Given the description of an element on the screen output the (x, y) to click on. 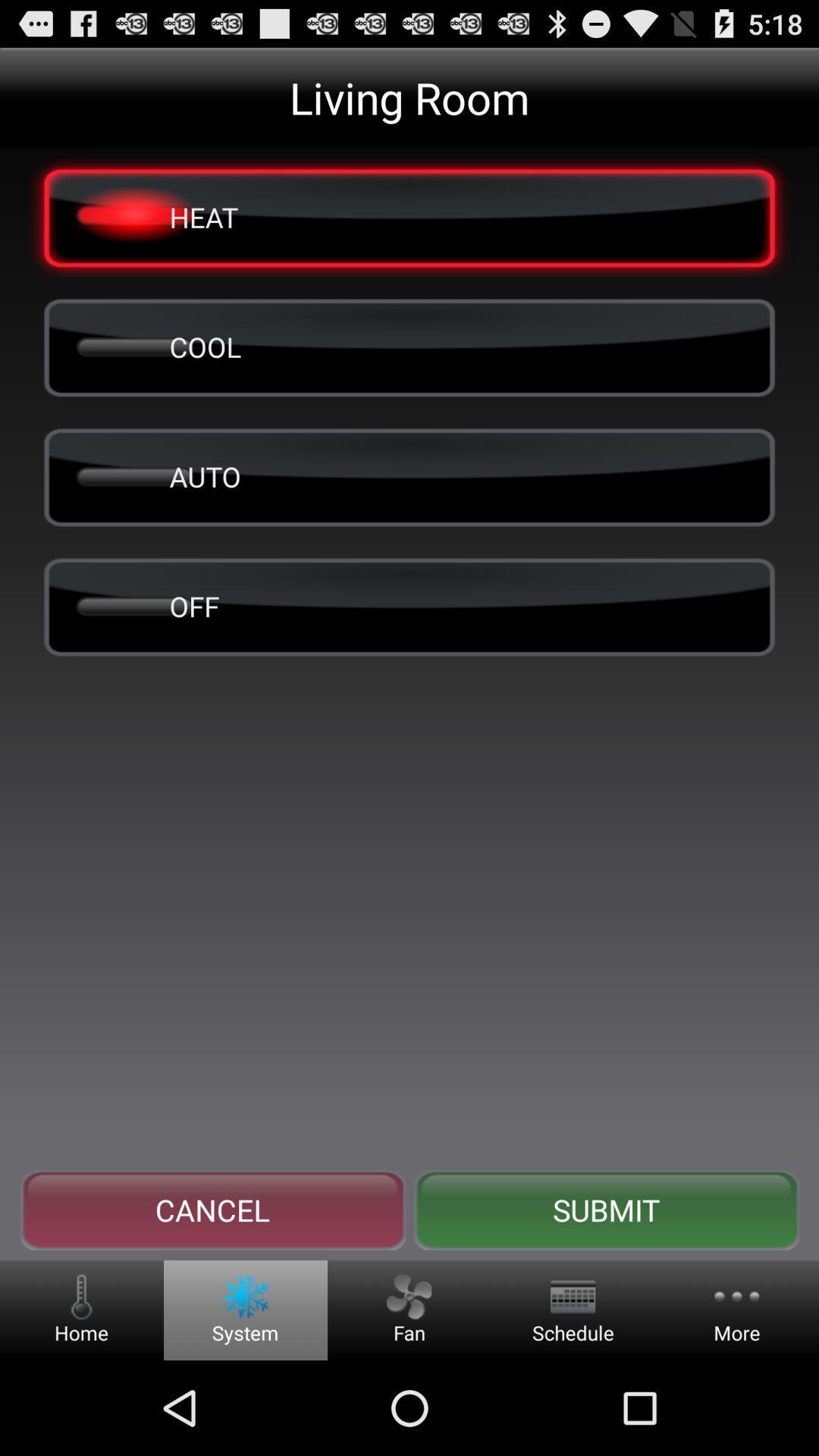
turn on cancel icon (212, 1210)
